Given the description of an element on the screen output the (x, y) to click on. 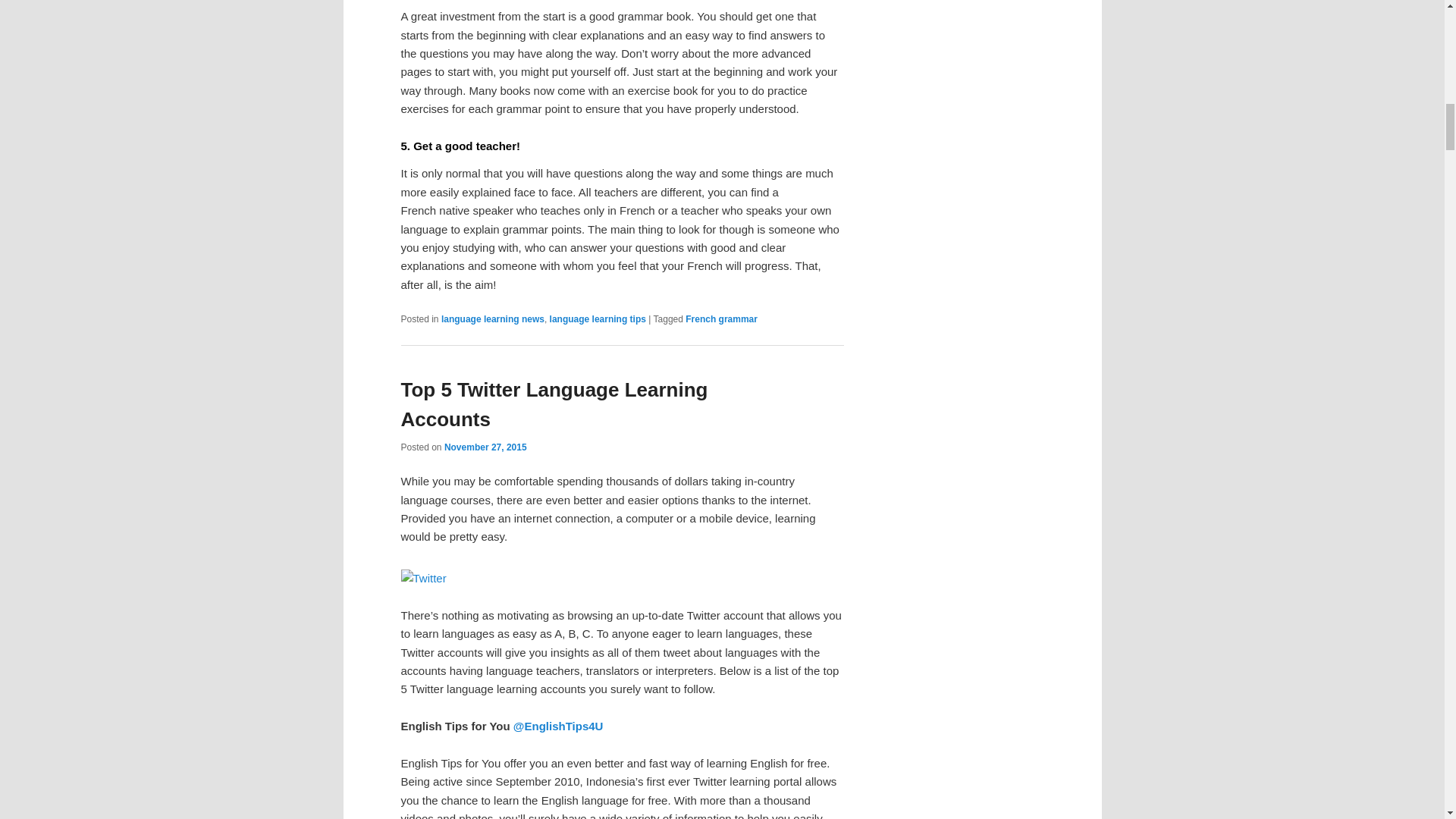
Twitter (422, 577)
language learning news (492, 318)
November 27, 2015 (485, 447)
language learning tips (598, 318)
Top 5 Twitter Language Learning Accounts (553, 404)
French grammar (721, 318)
2:27 pm (485, 447)
